Given the description of an element on the screen output the (x, y) to click on. 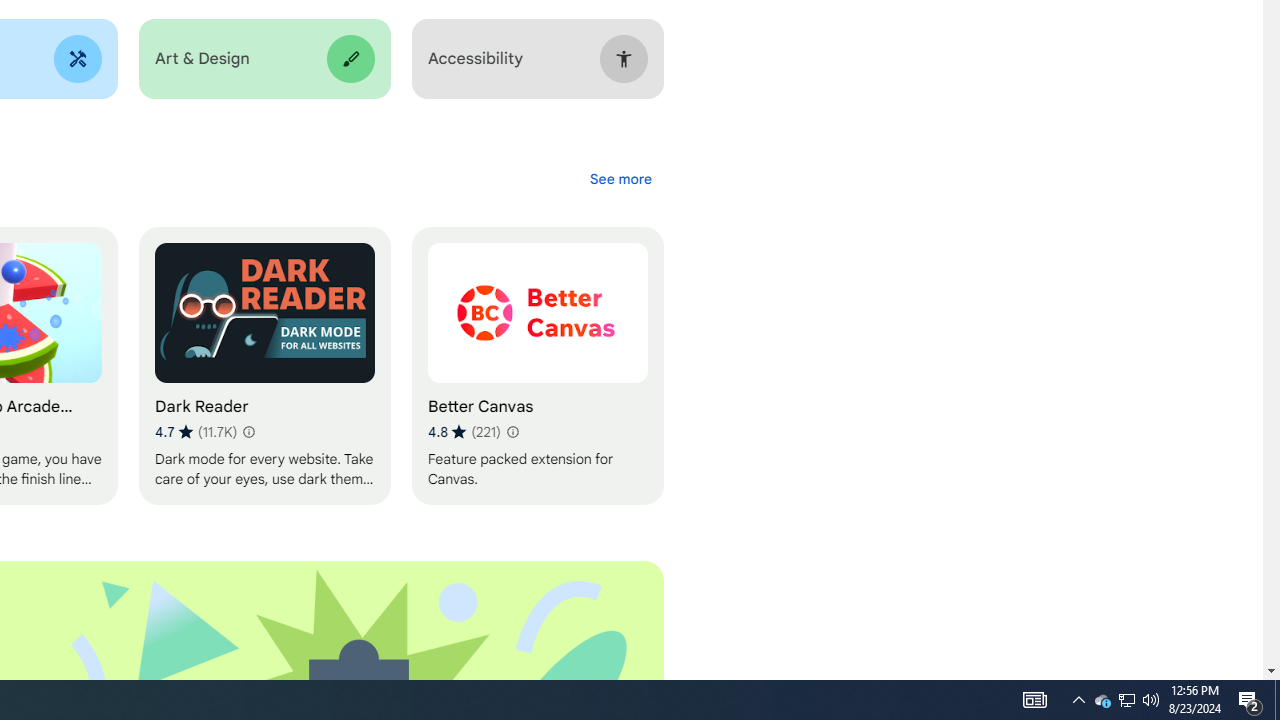
Dark Reader (264, 366)
Average rating 4.7 out of 5 stars. 11.7K ratings. (195, 431)
Learn more about results and reviews "Better Canvas" (1126, 699)
Average rating 4.8 out of 5 stars. 221 ratings. (511, 431)
Art & Design (463, 431)
Q2790: 100% (264, 59)
See more personalized recommendations (1151, 699)
Show desktop (620, 178)
User Promoted Notification Area (1277, 699)
Learn more about results and reviews "Dark Reader" (1126, 699)
Accessibility (247, 431)
AutomationID: 4105 (537, 59)
